Given the description of an element on the screen output the (x, y) to click on. 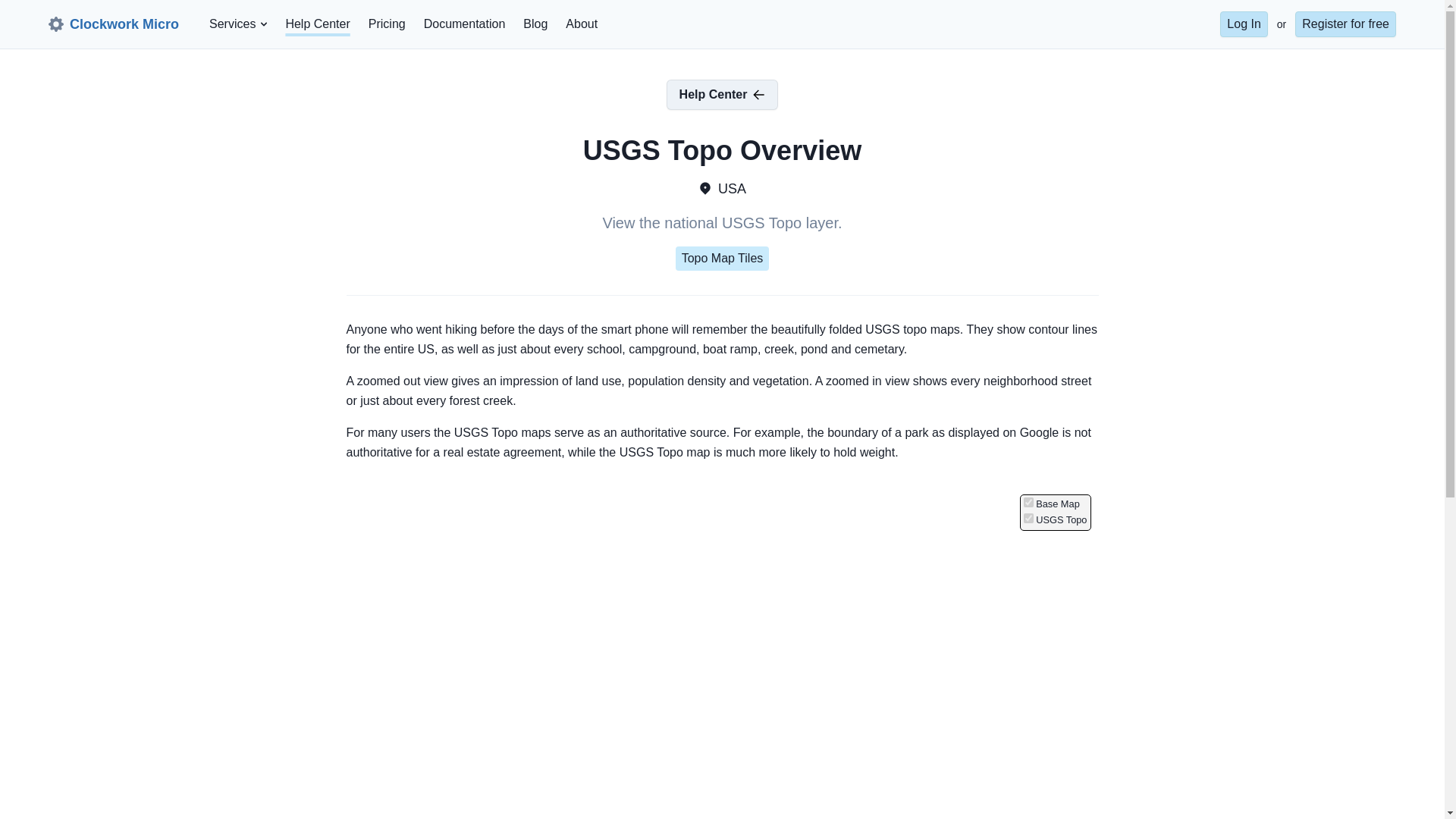
Clockwork Micro (113, 23)
Help Center (722, 94)
on (1028, 501)
Services (232, 23)
Help Center (317, 24)
Pricing (387, 24)
Documentation (464, 24)
Register for free (1345, 23)
Blog (534, 24)
Log In (1243, 23)
Services (238, 24)
About (581, 24)
on (1028, 518)
